Given the description of an element on the screen output the (x, y) to click on. 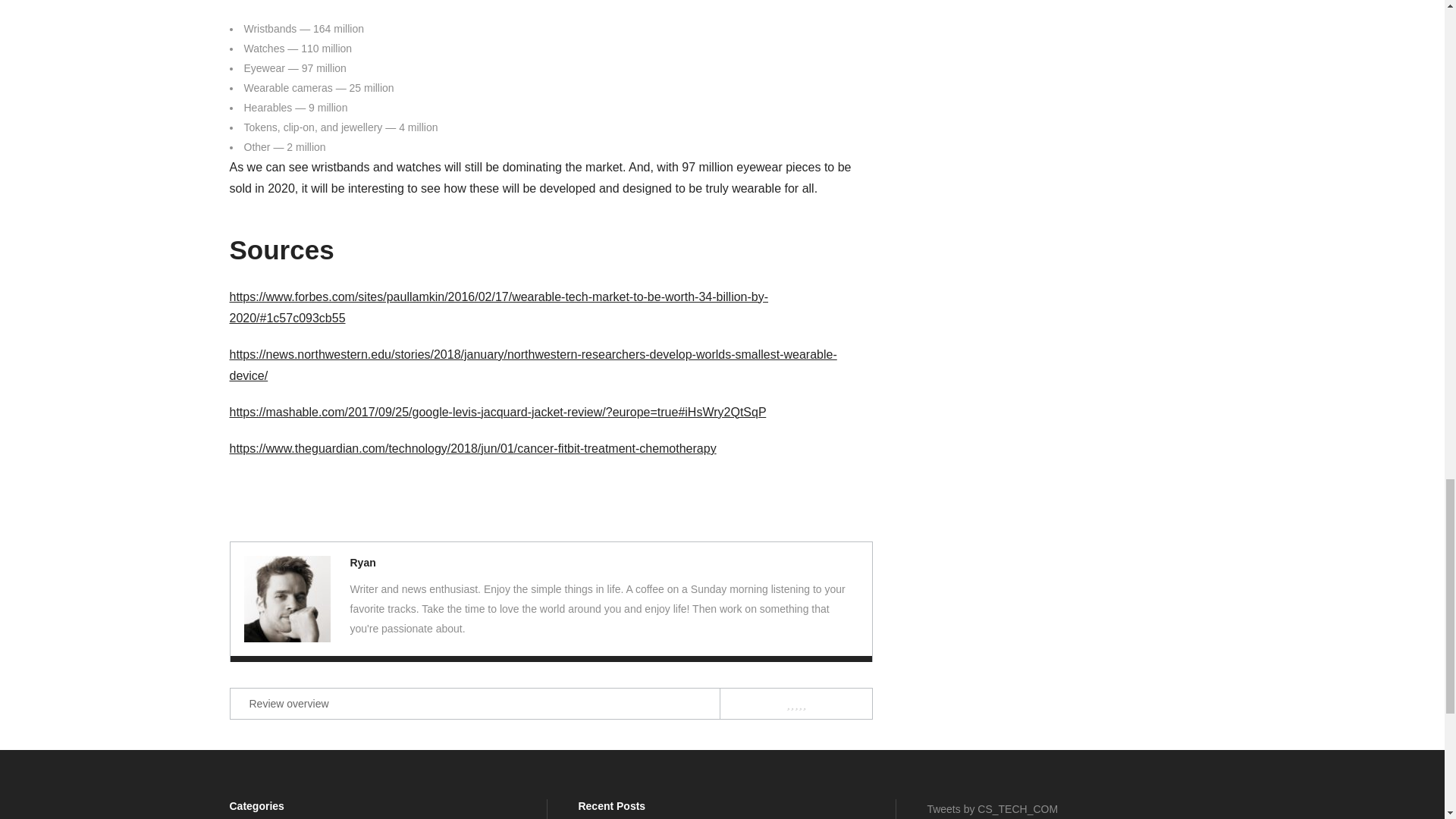
The research and development of wearable tech (362, 562)
The research and development of wearable tech (287, 599)
Ryan (362, 562)
